Given the description of an element on the screen output the (x, y) to click on. 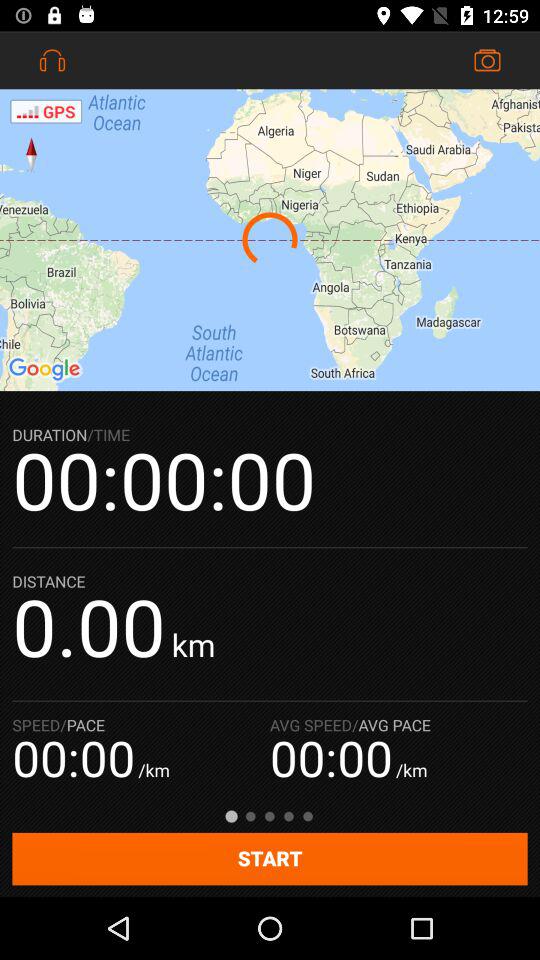
flip to start icon (269, 858)
